Given the description of an element on the screen output the (x, y) to click on. 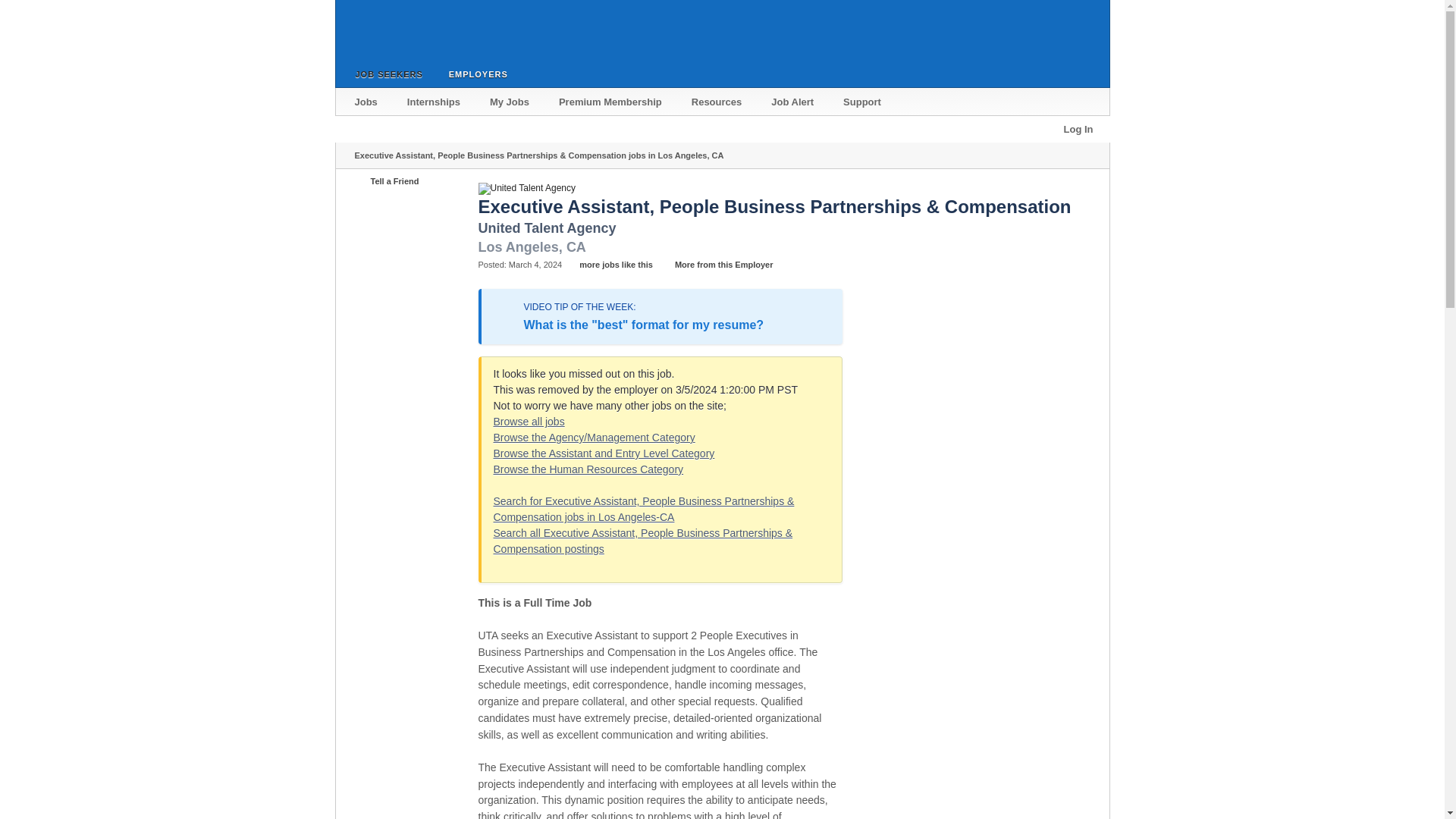
More from this Employer (716, 264)
Browse the Assistant and Entry Level Category (603, 453)
What is the "best" format for my resume? (642, 324)
Browse all jobs (528, 421)
EMPLOYERS (475, 73)
Log In (1078, 128)
Premium Membership (611, 101)
JOB SEEKERS (385, 73)
Browse the Human Resources Category (587, 469)
Resources (717, 101)
